Given the description of an element on the screen output the (x, y) to click on. 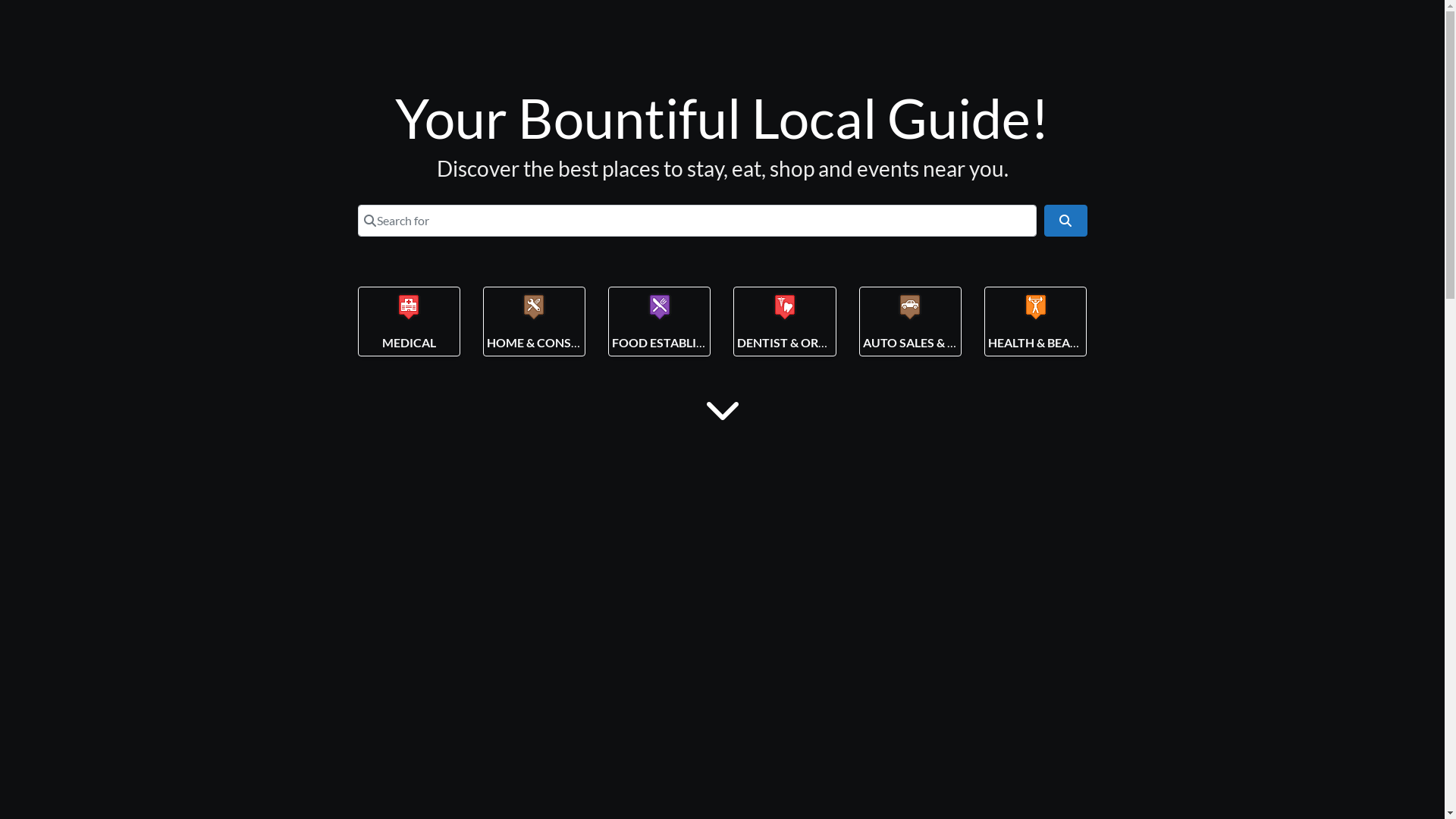
MEDICAL Element type: text (409, 342)
DENTIST & ORTHODONTIST Element type: text (817, 342)
HEALTH & BEAUTY Element type: text (1041, 342)
AUTO SALES & SERVICE Element type: text (928, 342)
Search Element type: text (1065, 220)
FOOD ESTABLISHMENT Element type: text (678, 342)
HOME & CONSTRUCTION Element type: text (559, 342)
